Given the description of an element on the screen output the (x, y) to click on. 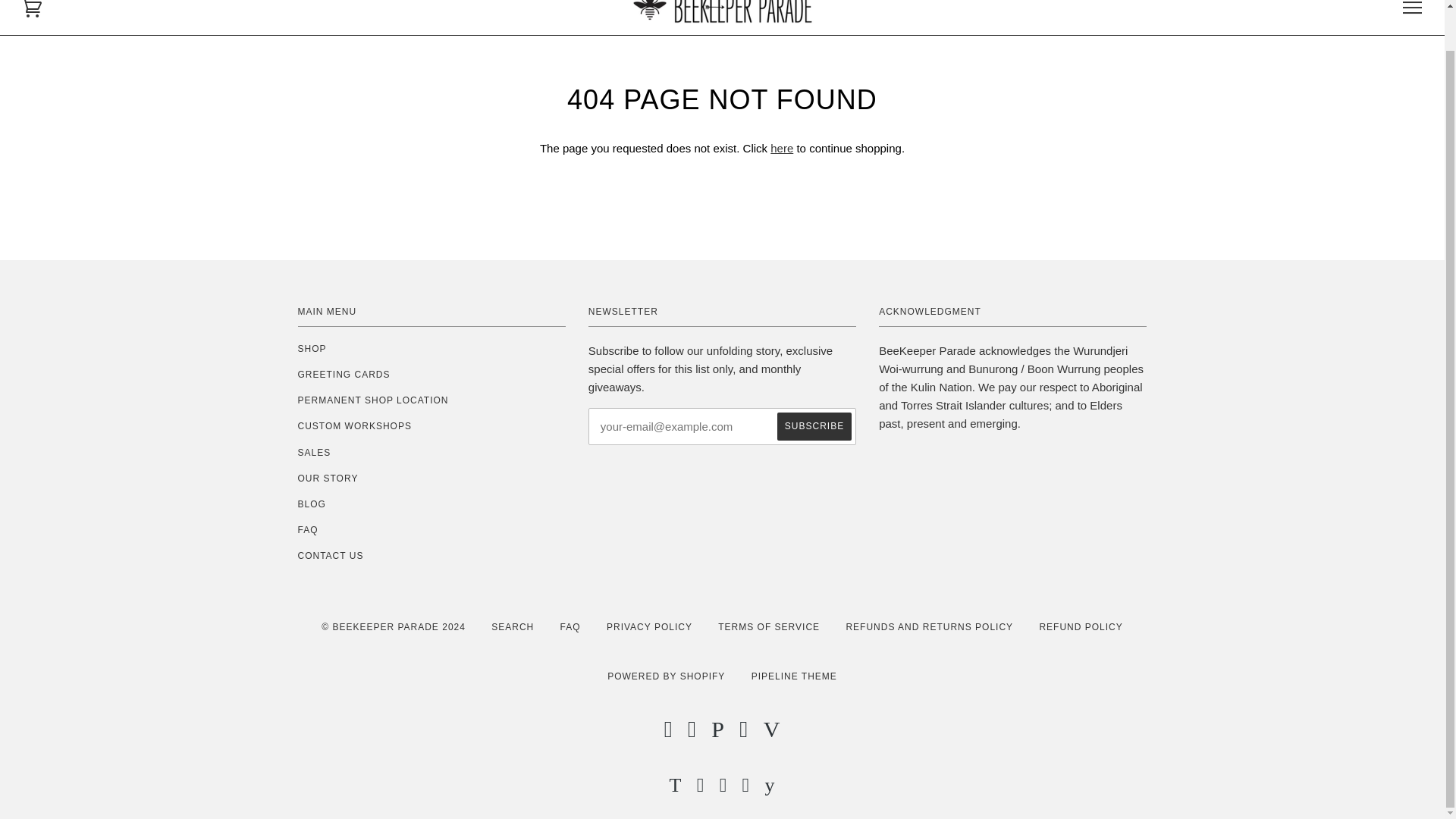
BeeKeeper Parade on Youtube (769, 787)
Subscribe (814, 426)
BeeKeeper Parade on Twitter (675, 787)
